Given the description of an element on the screen output the (x, y) to click on. 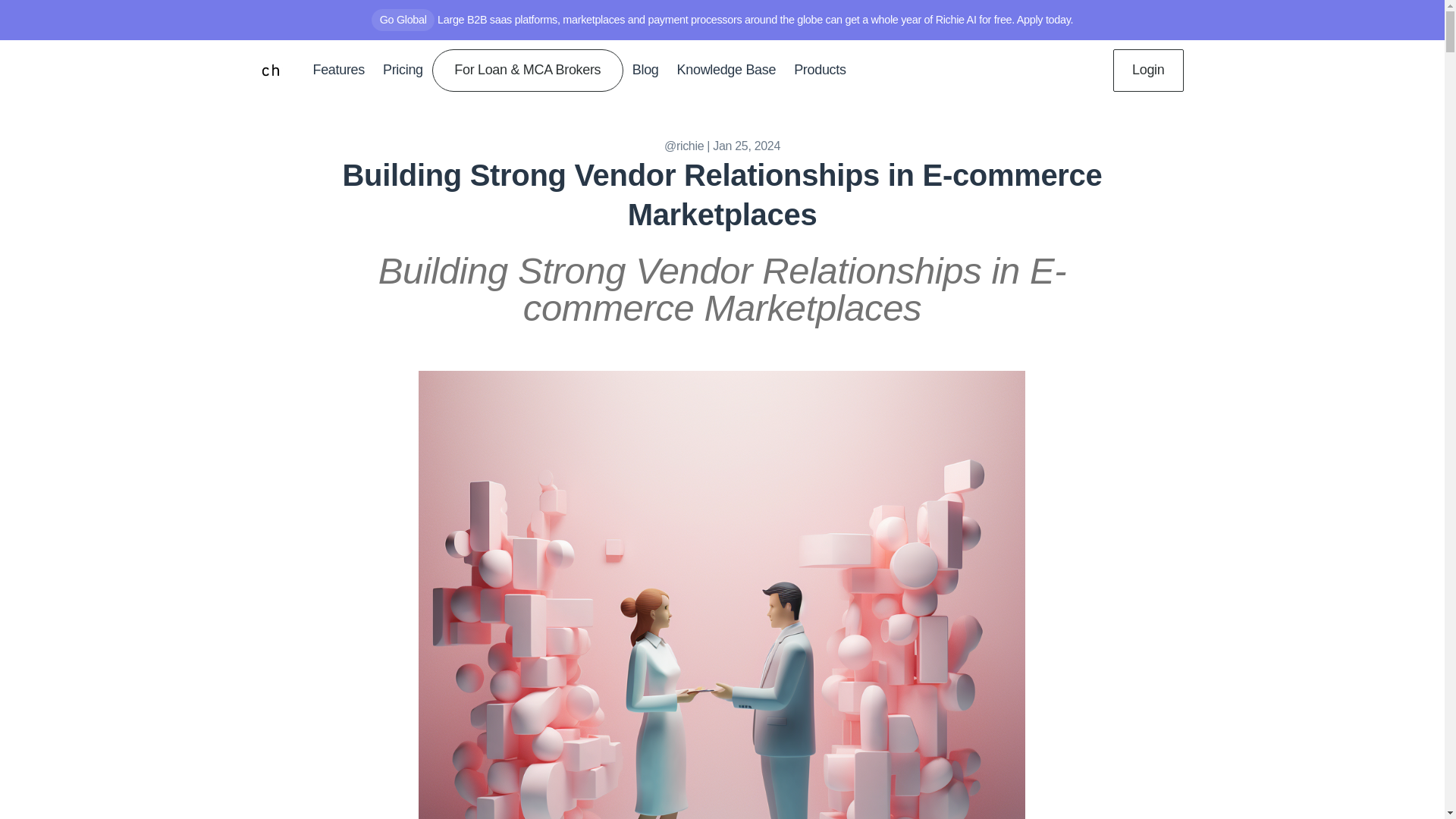
Pricing (403, 70)
Knowledge Base (727, 70)
Products (819, 70)
Features (337, 70)
Blog (645, 70)
Login (1147, 73)
